Given the description of an element on the screen output the (x, y) to click on. 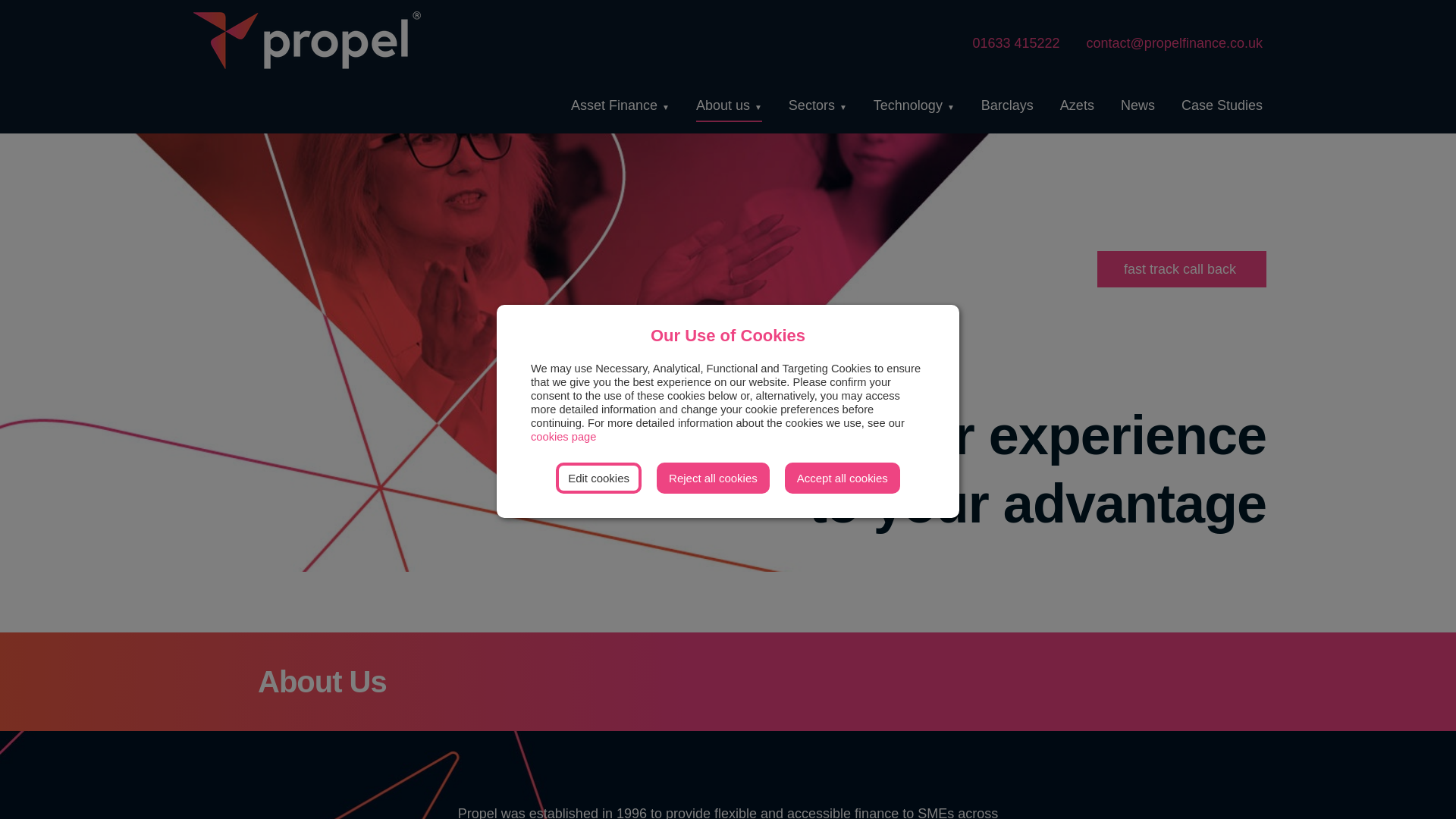
Azets (1076, 105)
News (1137, 105)
01633 415222 (1005, 43)
Case Studies (1221, 105)
Barclays (1007, 105)
